Given the description of an element on the screen output the (x, y) to click on. 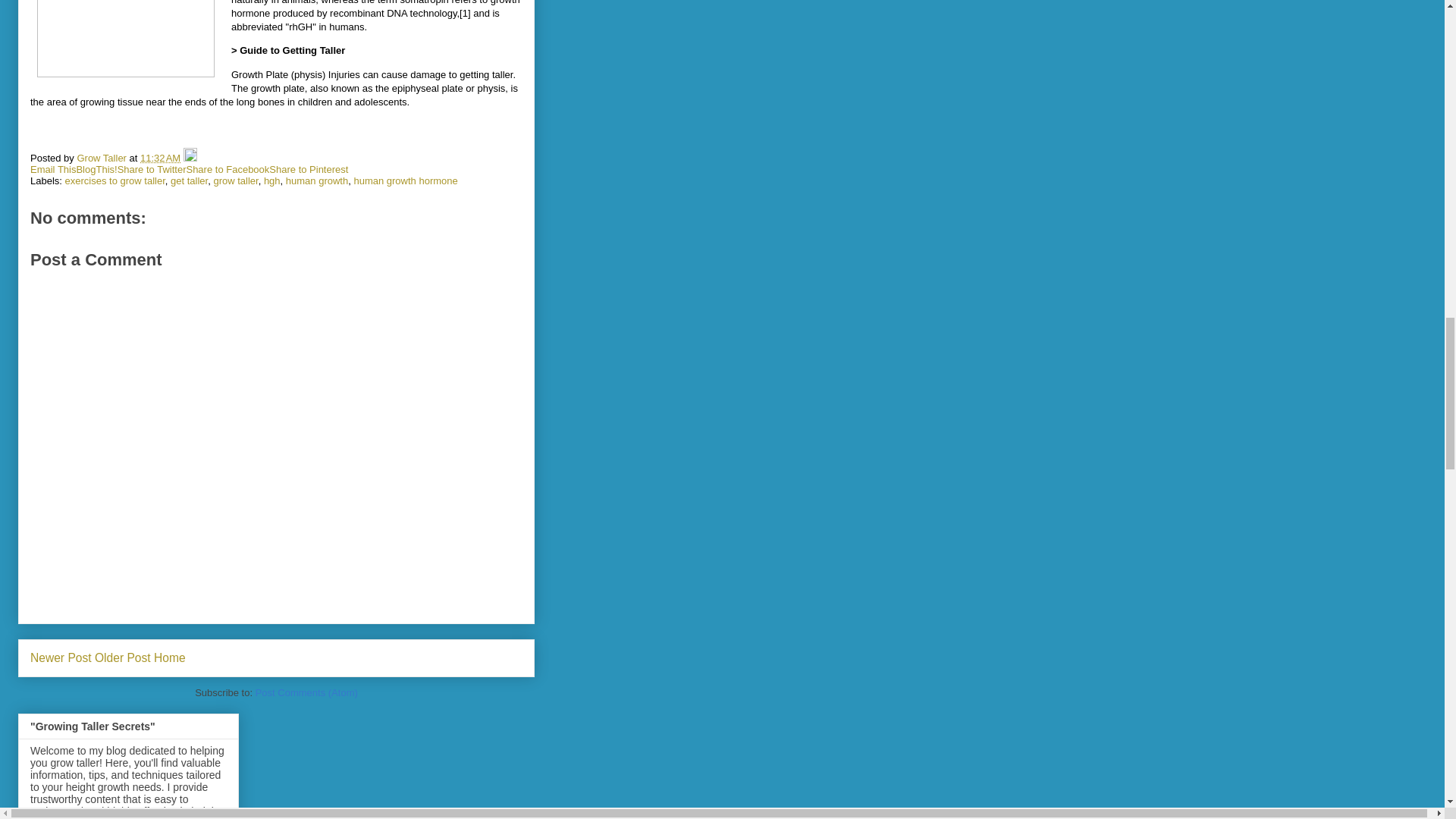
Edit Post (189, 157)
author profile (103, 157)
Email This (52, 169)
hgh (272, 180)
Share to Twitter (151, 169)
grow taller (234, 180)
Older Post (122, 657)
BlogThis! (95, 169)
Home (170, 657)
human growth (316, 180)
Newer Post (60, 657)
Share to Twitter (151, 169)
exercises to grow taller (115, 180)
Share to Facebook (227, 169)
human growth hormone (405, 180)
